Given the description of an element on the screen output the (x, y) to click on. 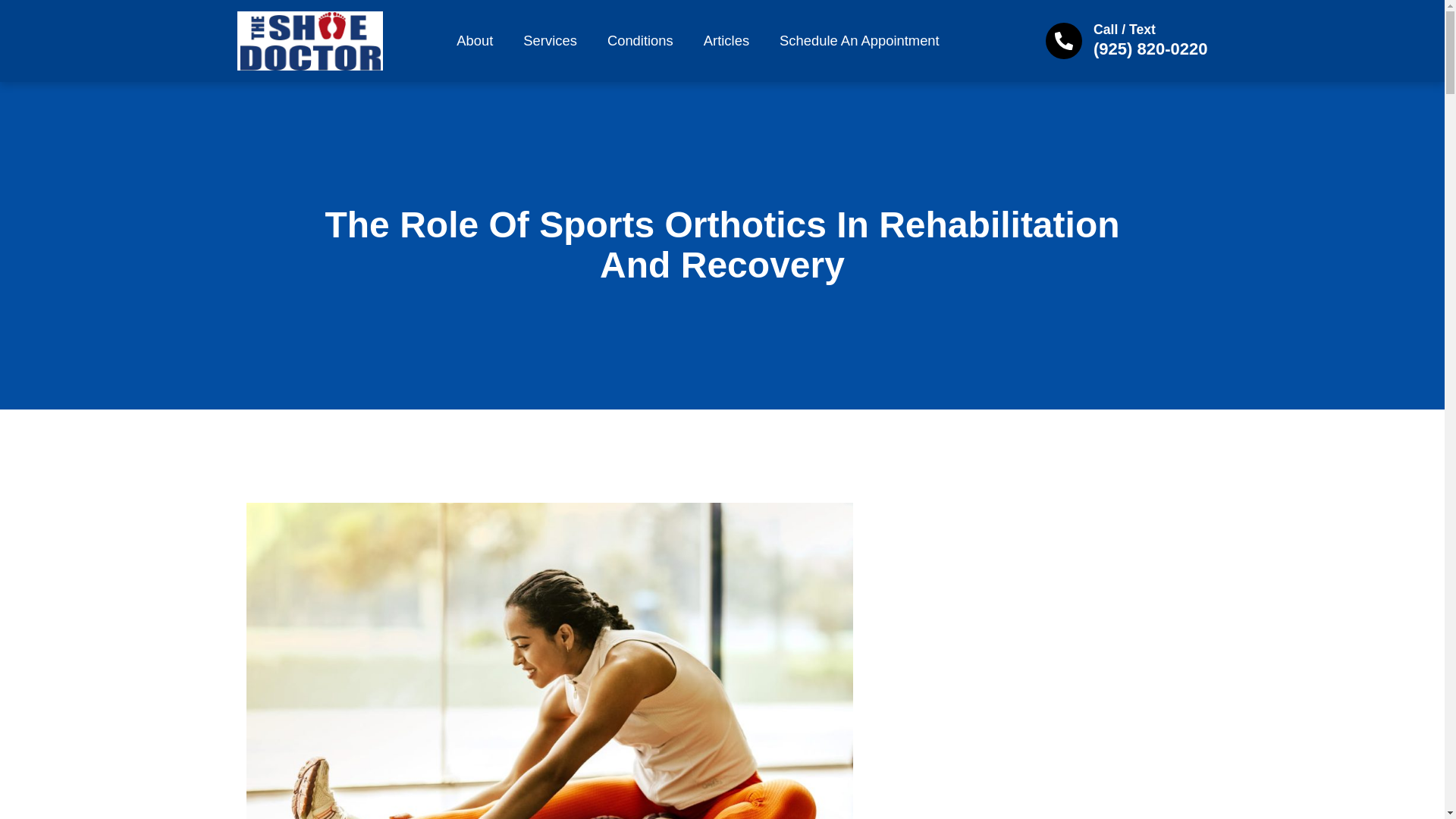
Services (550, 40)
About (474, 40)
Schedule An Appointment (859, 40)
Conditions (640, 40)
Articles (726, 40)
